Given the description of an element on the screen output the (x, y) to click on. 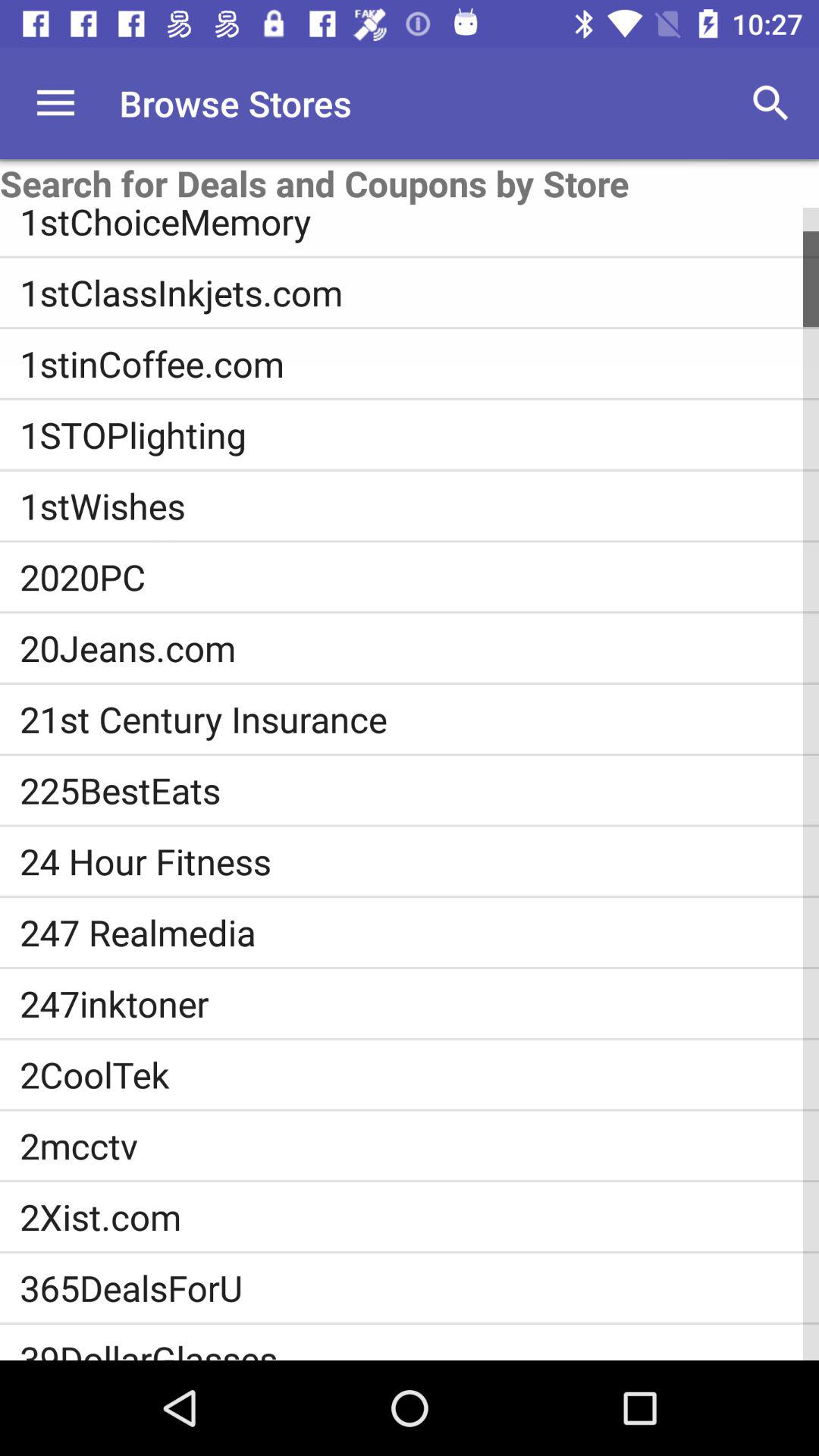
select the 1stchoicememory icon (419, 226)
